Given the description of an element on the screen output the (x, y) to click on. 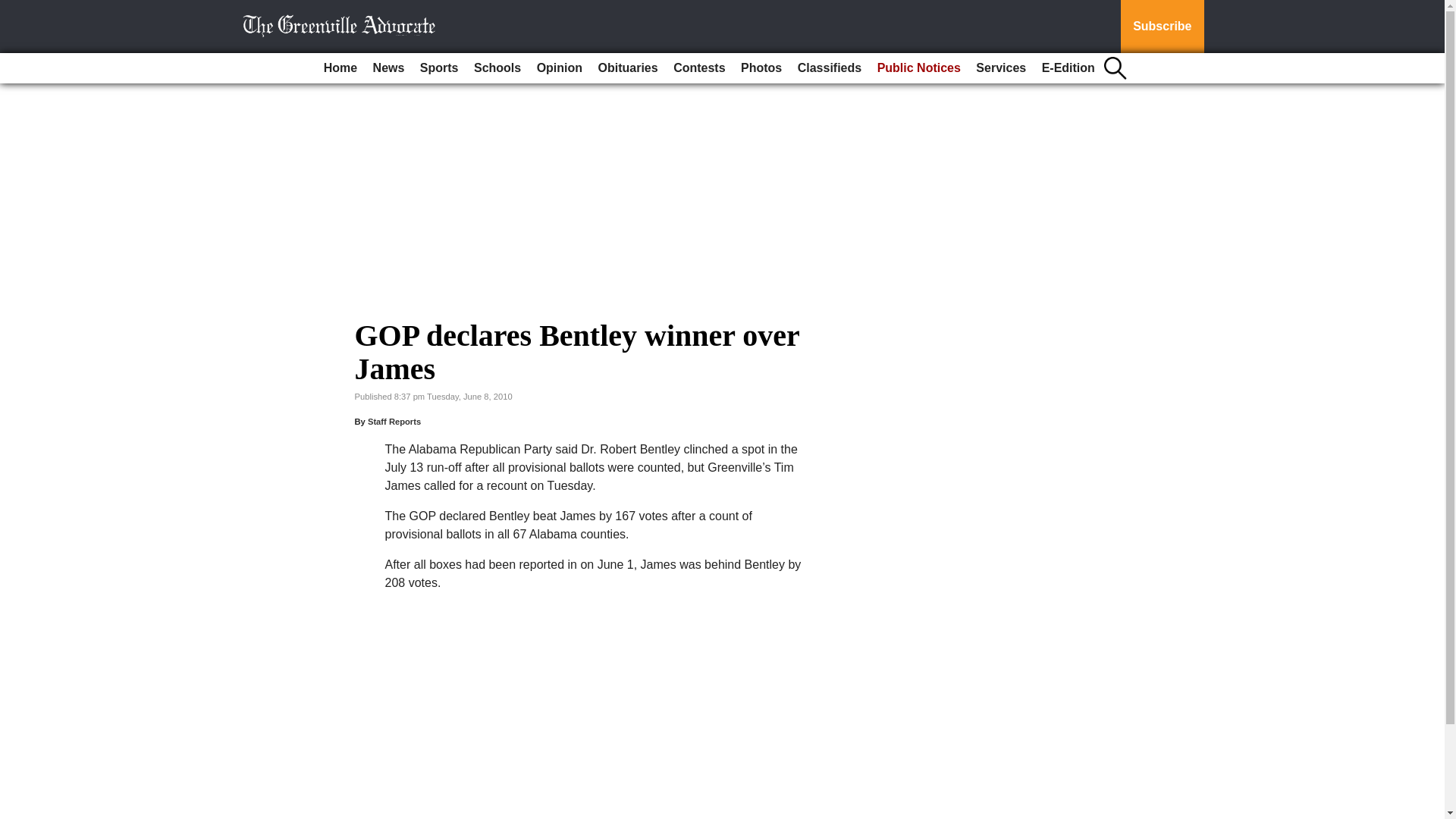
Opinion (559, 68)
Home (339, 68)
News (388, 68)
Photos (761, 68)
Subscribe (1162, 26)
Schools (497, 68)
Contests (698, 68)
Go (13, 9)
Services (1000, 68)
Sports (438, 68)
E-Edition (1067, 68)
Obituaries (627, 68)
Staff Reports (394, 420)
Classifieds (829, 68)
Public Notices (918, 68)
